Given the description of an element on the screen output the (x, y) to click on. 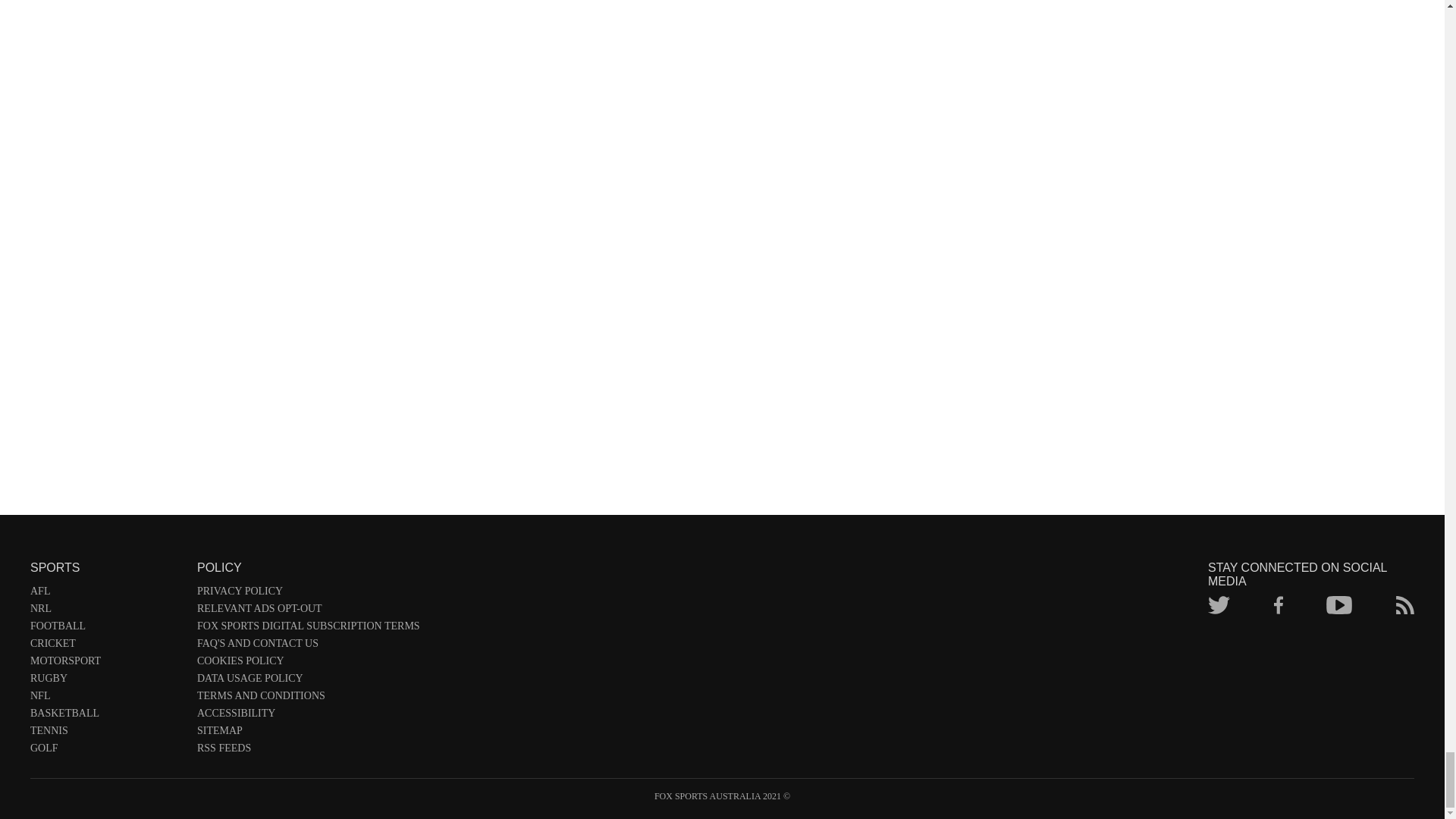
MOTORSPORT (106, 663)
COOKIES POLICY (308, 663)
NRL (106, 610)
RELEVANT ADS OPT-OUT (308, 610)
RUGBY (106, 681)
AFL (106, 593)
FAQ'S AND CONTACT US (308, 646)
CRICKET (106, 646)
TENNIS (106, 733)
BASKETBALL (106, 715)
